Given the description of an element on the screen output the (x, y) to click on. 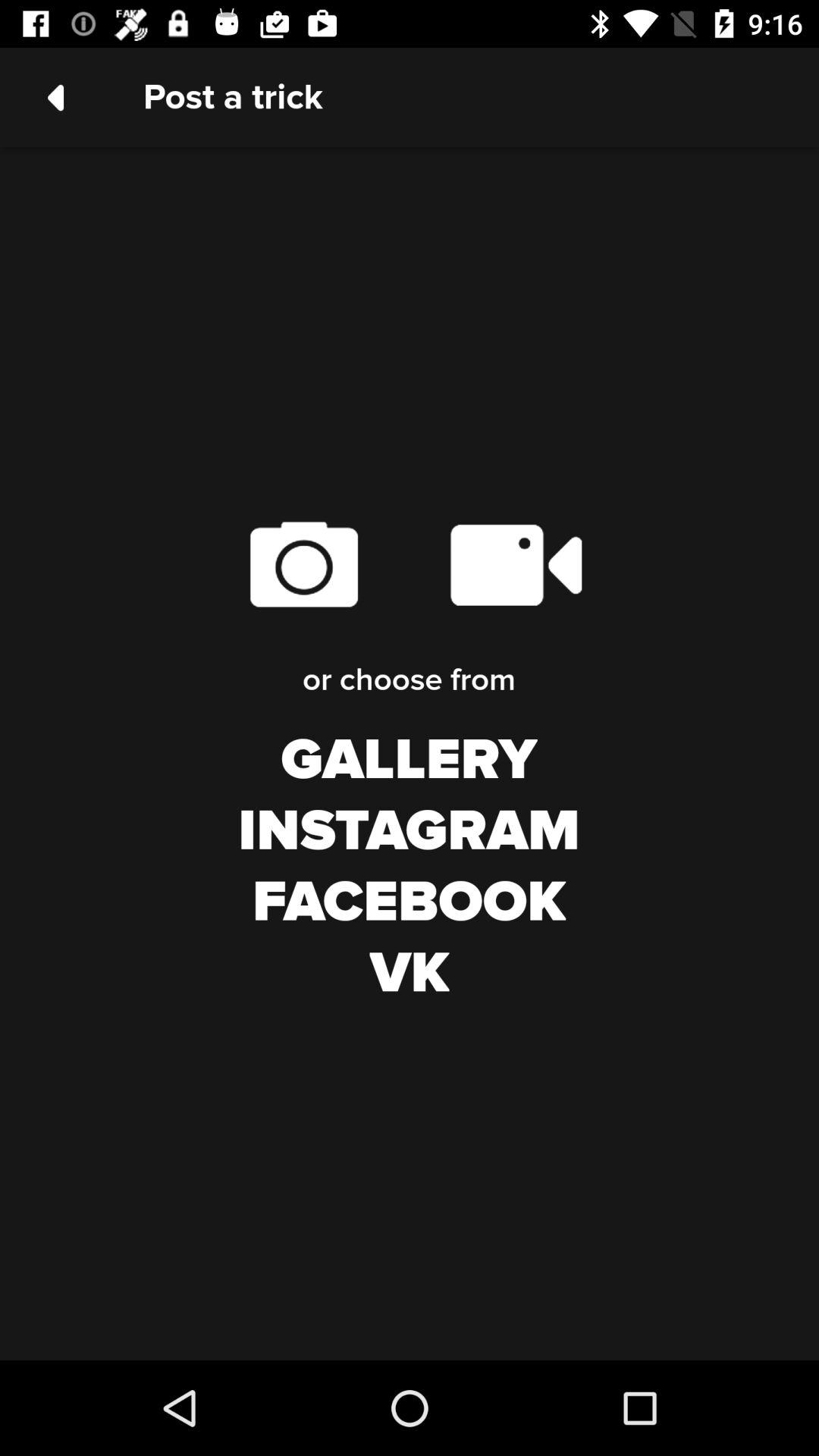
turn off the icon above or choose from item (515, 564)
